Given the description of an element on the screen output the (x, y) to click on. 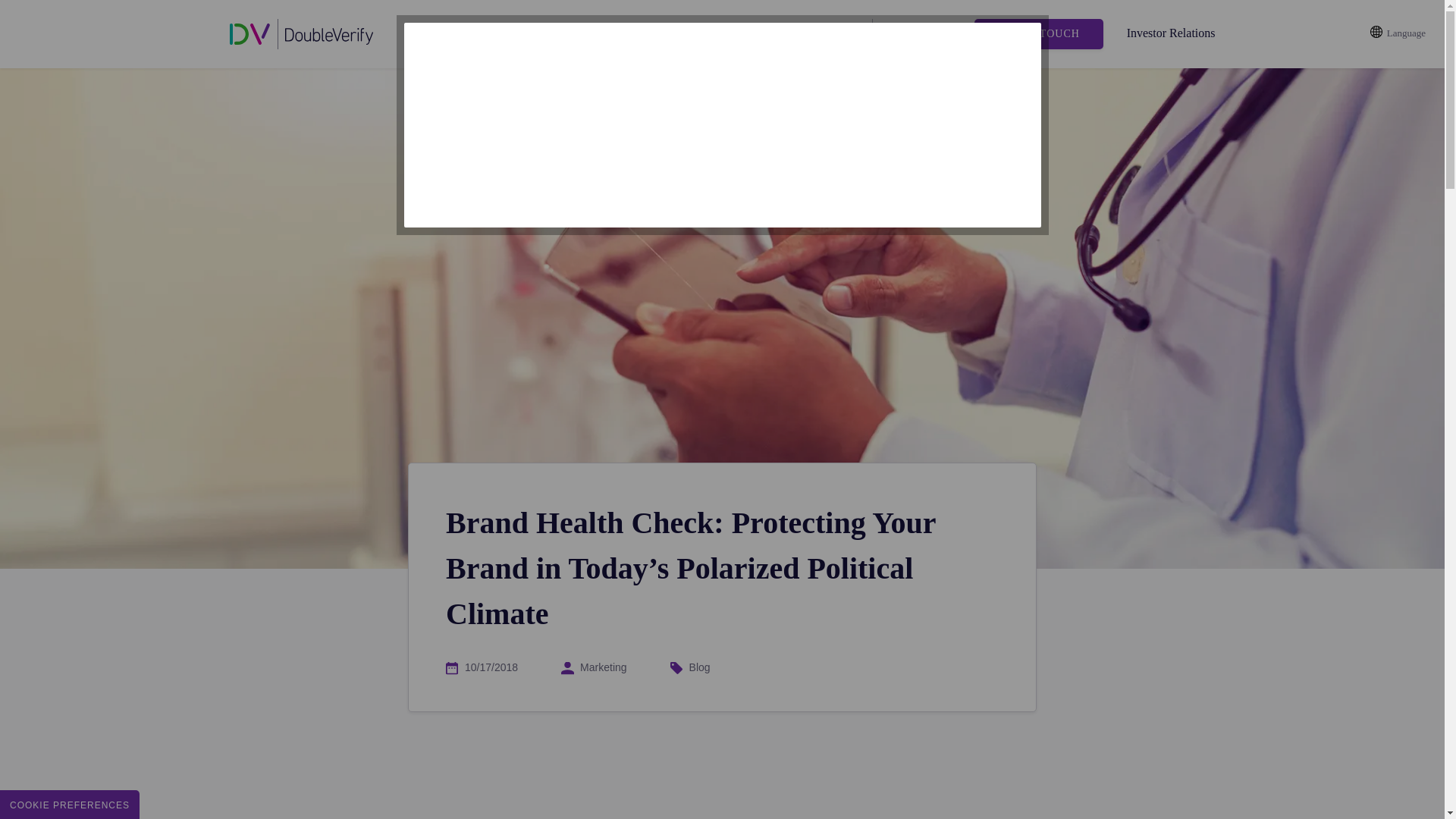
Careers (827, 33)
Innovation (584, 33)
Contact (766, 33)
